Given the description of an element on the screen output the (x, y) to click on. 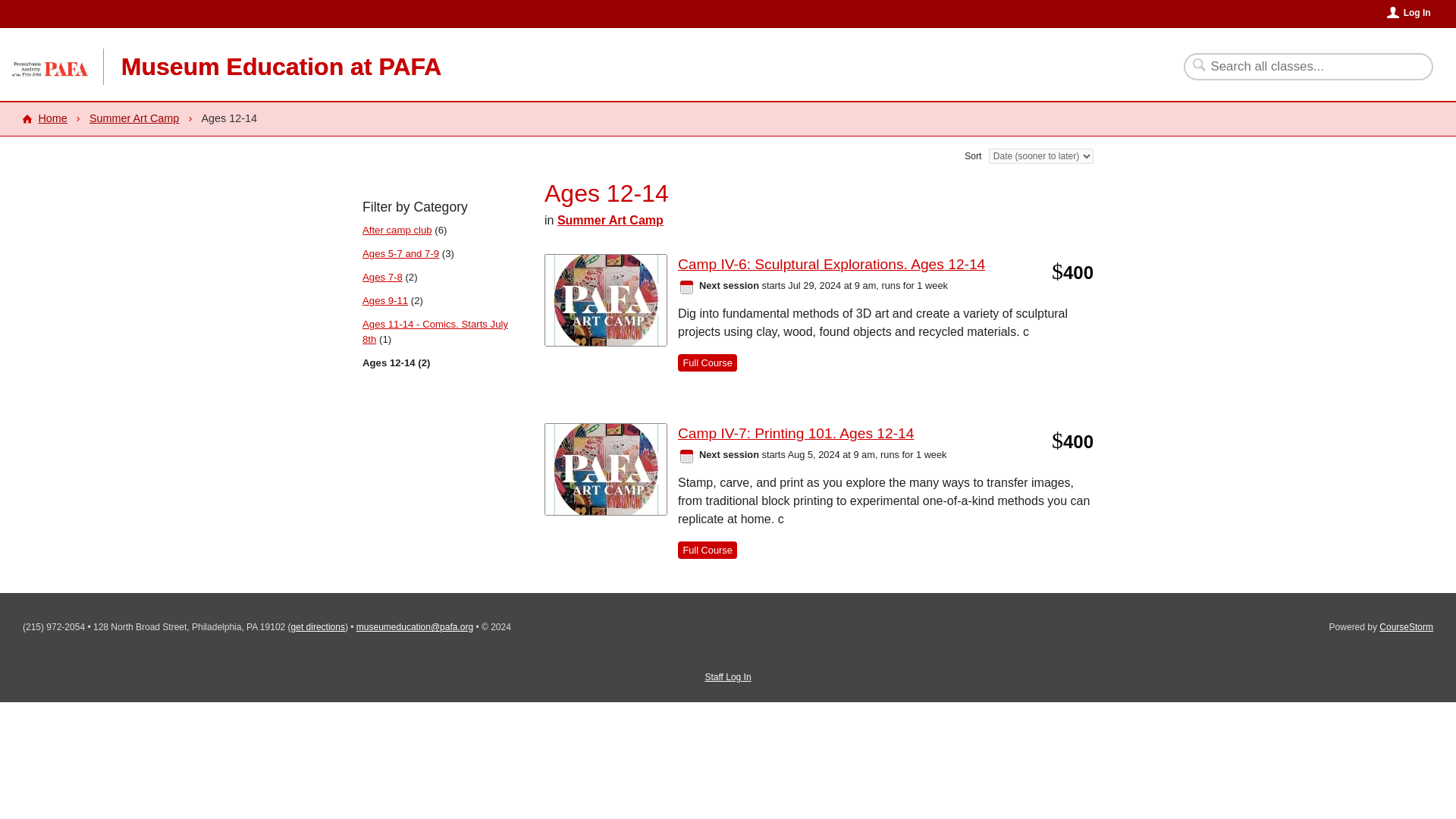
Camp IV-6: Sculptural Explorations. Ages 12-14 (831, 264)
Home (43, 118)
Ages 11-14 - Comics. Starts July 8th (435, 331)
Log In (1409, 12)
Get directions (318, 626)
Summer Art Camp (133, 118)
Staff Log In (727, 676)
Ages 9-11 (384, 300)
Summer Art Camp (610, 219)
CourseStorm (1405, 626)
Ages 7-8 (382, 276)
After camp club (397, 229)
Camp IV-7: Printing 101. Ages 12-14 (796, 434)
Ages 5-7 and 7-9 (400, 253)
get directions (318, 626)
